Given the description of an element on the screen output the (x, y) to click on. 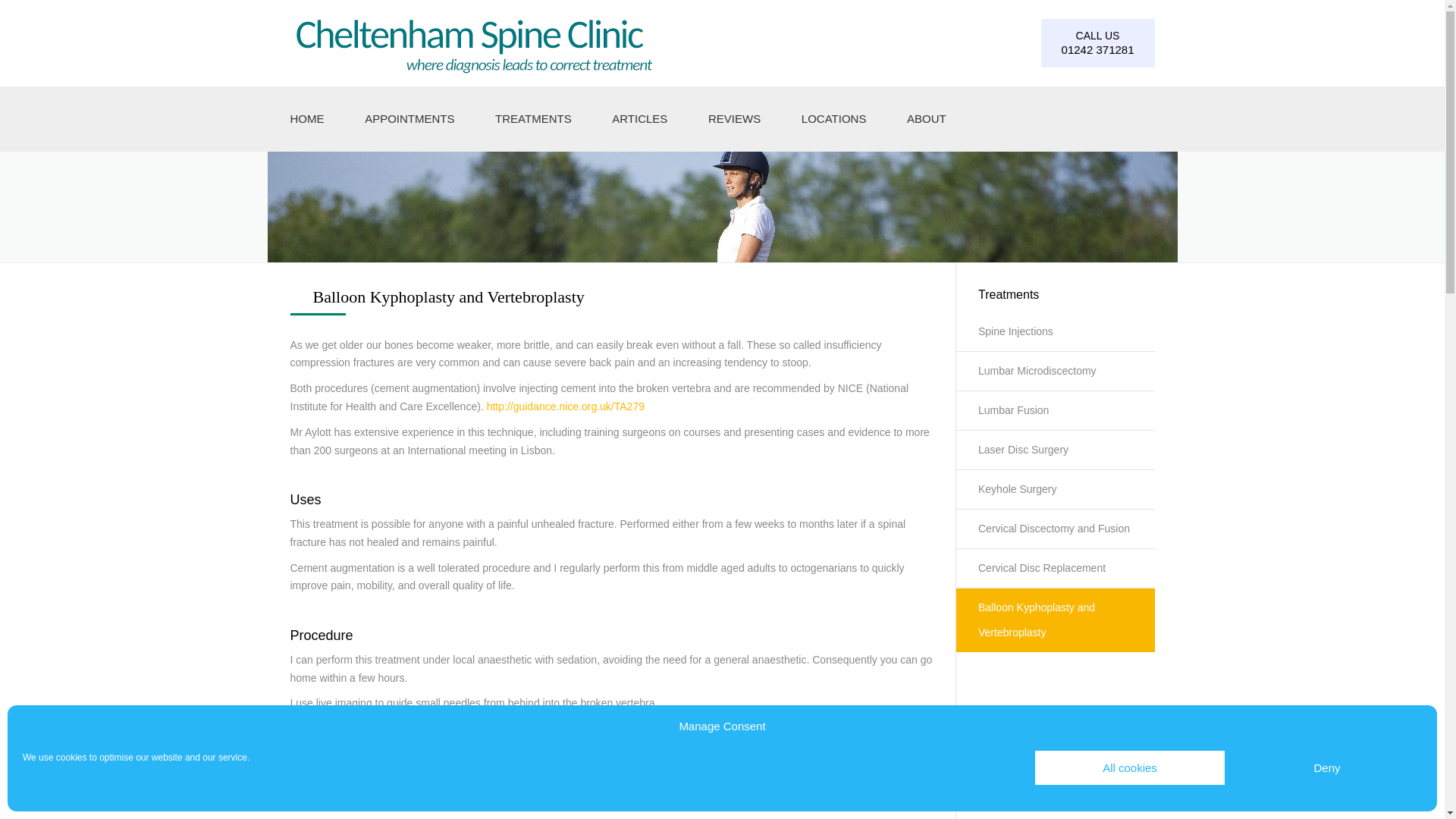
HOME (306, 118)
Cervical Discectomy and Fusion (1054, 528)
LOCATIONS (834, 118)
ABOUT (926, 118)
Lumbar Microdiscectomy (1054, 371)
Spine Injections (1054, 335)
TREATMENTS (533, 118)
Laser Disc Surgery (1054, 450)
APPOINTMENTS (409, 118)
Lumbar Fusion (1054, 410)
Keyhole Surgery (1054, 489)
Deny (1326, 767)
REVIEWS (733, 118)
ARTICLES (638, 118)
All cookies (1129, 767)
